Given the description of an element on the screen output the (x, y) to click on. 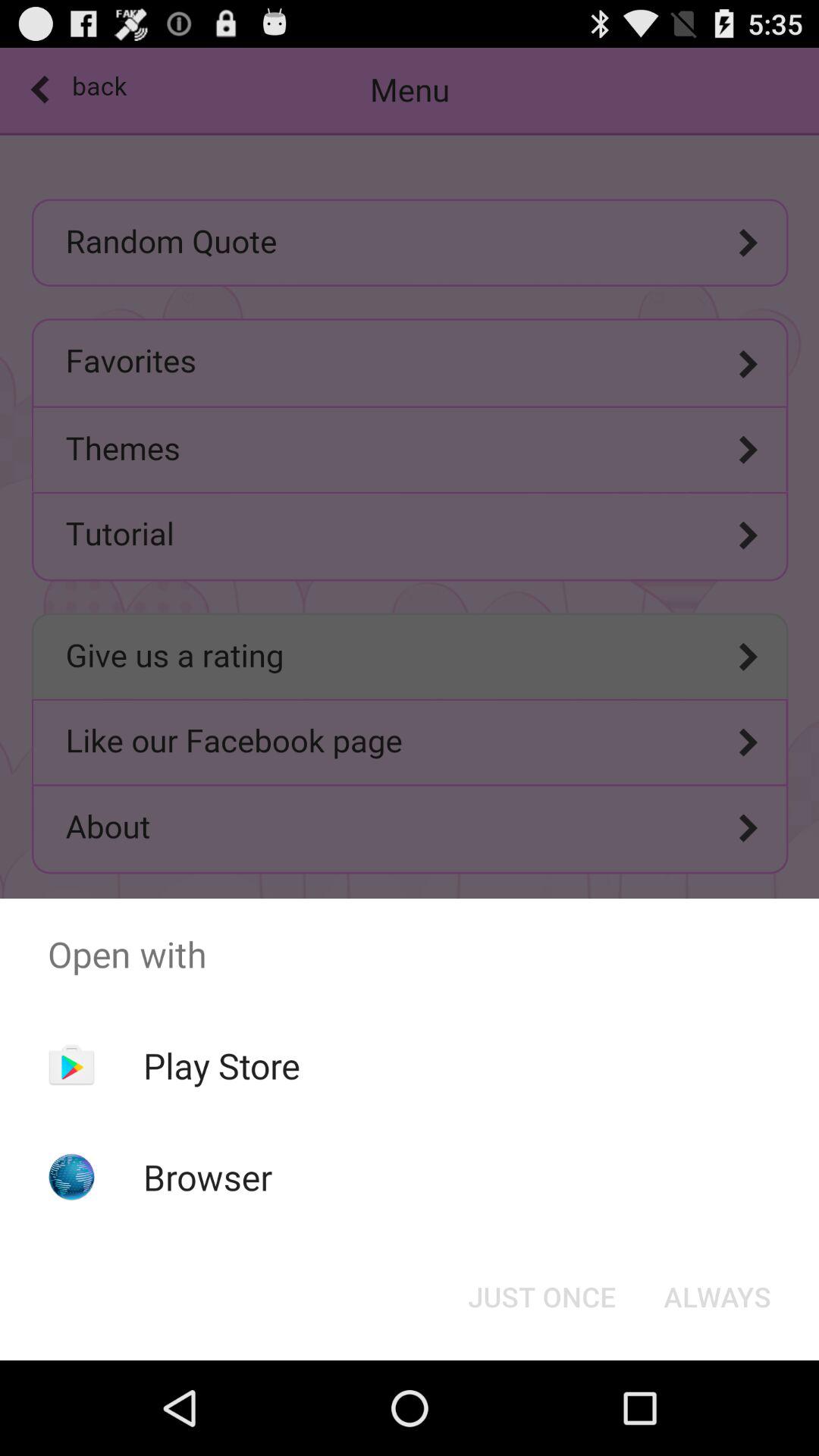
choose browser item (207, 1176)
